Given the description of an element on the screen output the (x, y) to click on. 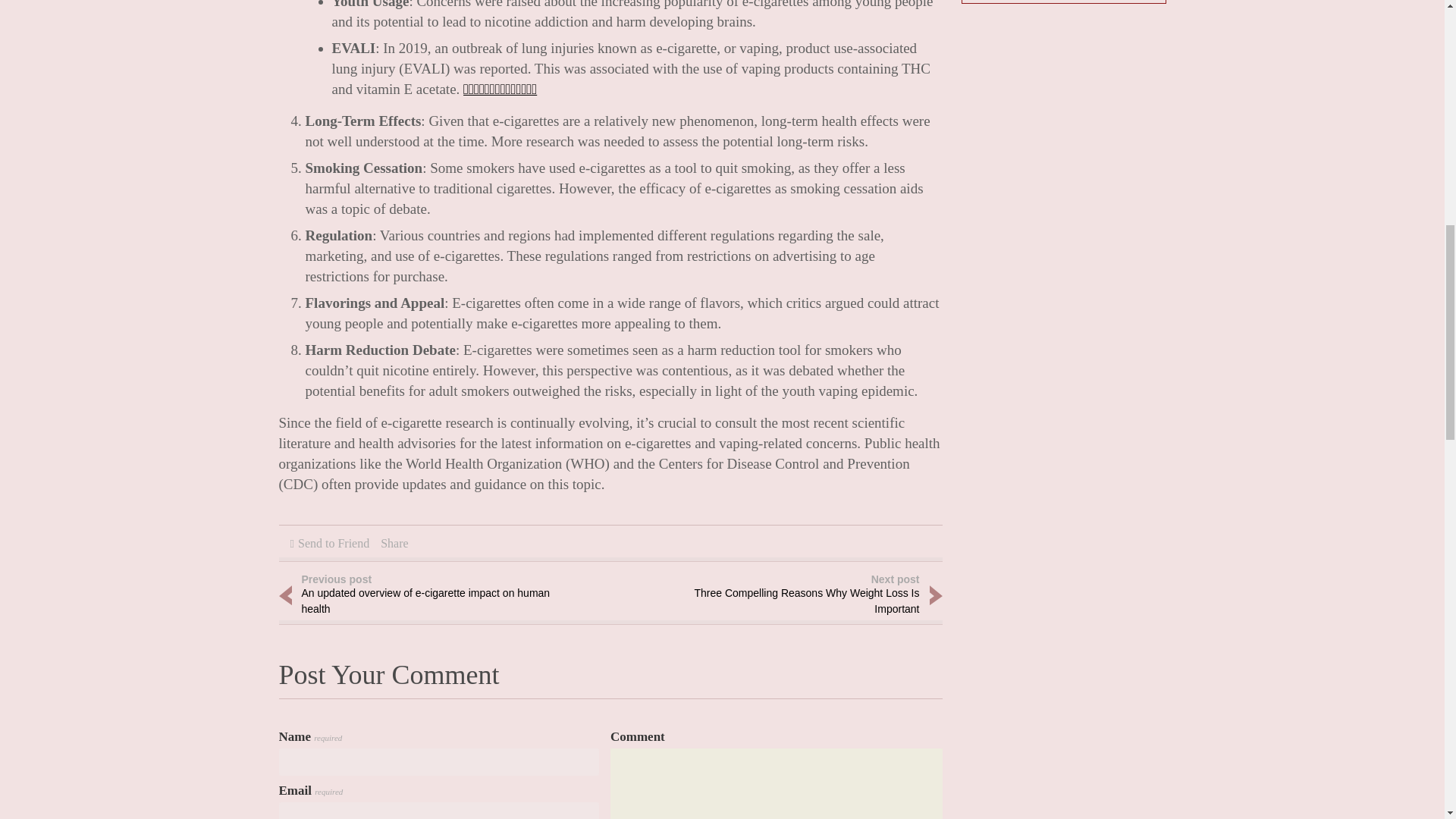
Share (393, 543)
Send to Friend (333, 543)
